Given the description of an element on the screen output the (x, y) to click on. 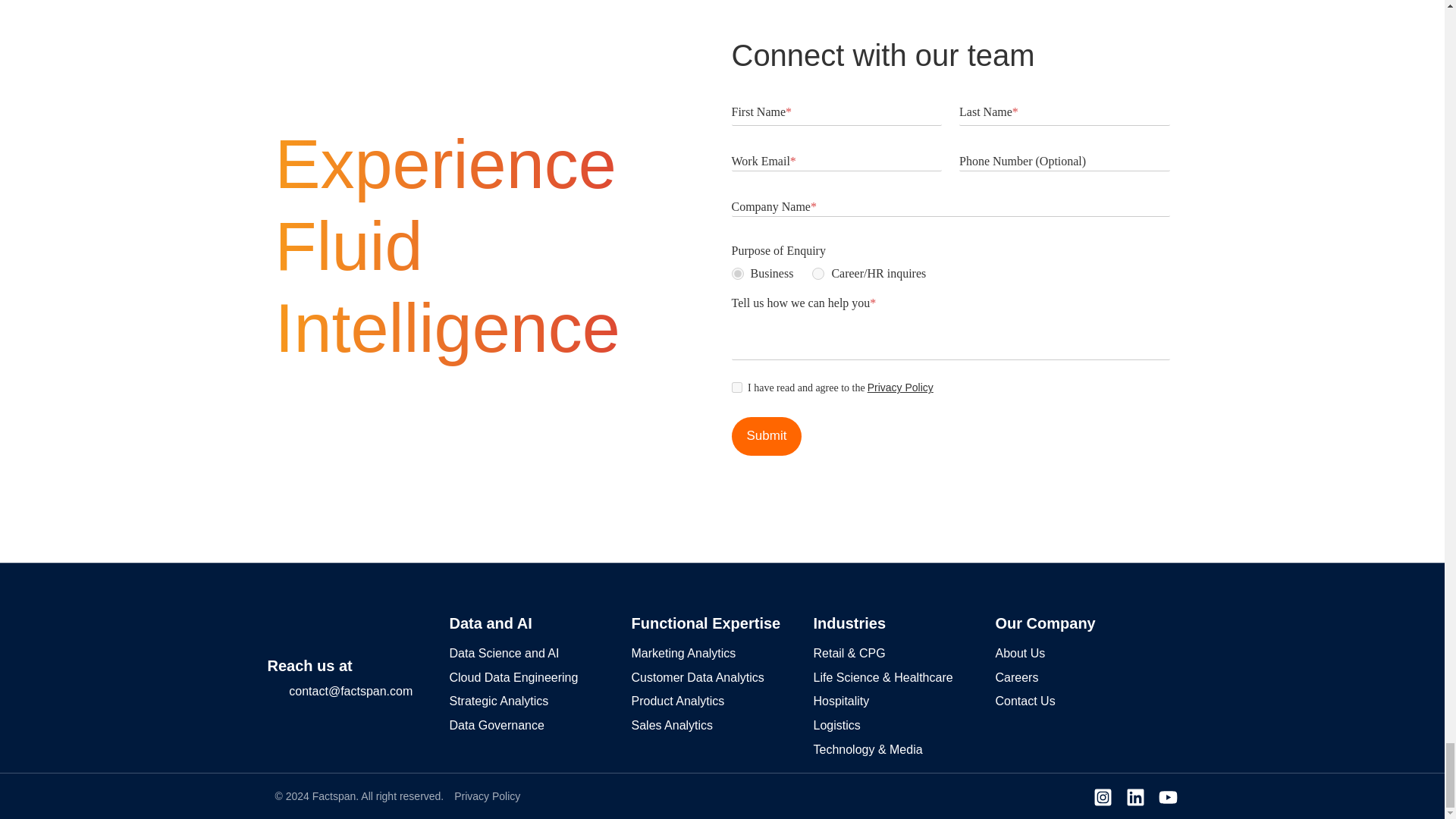
I have read and agree to the (735, 387)
Submit (766, 435)
Business (736, 273)
